Given the description of an element on the screen output the (x, y) to click on. 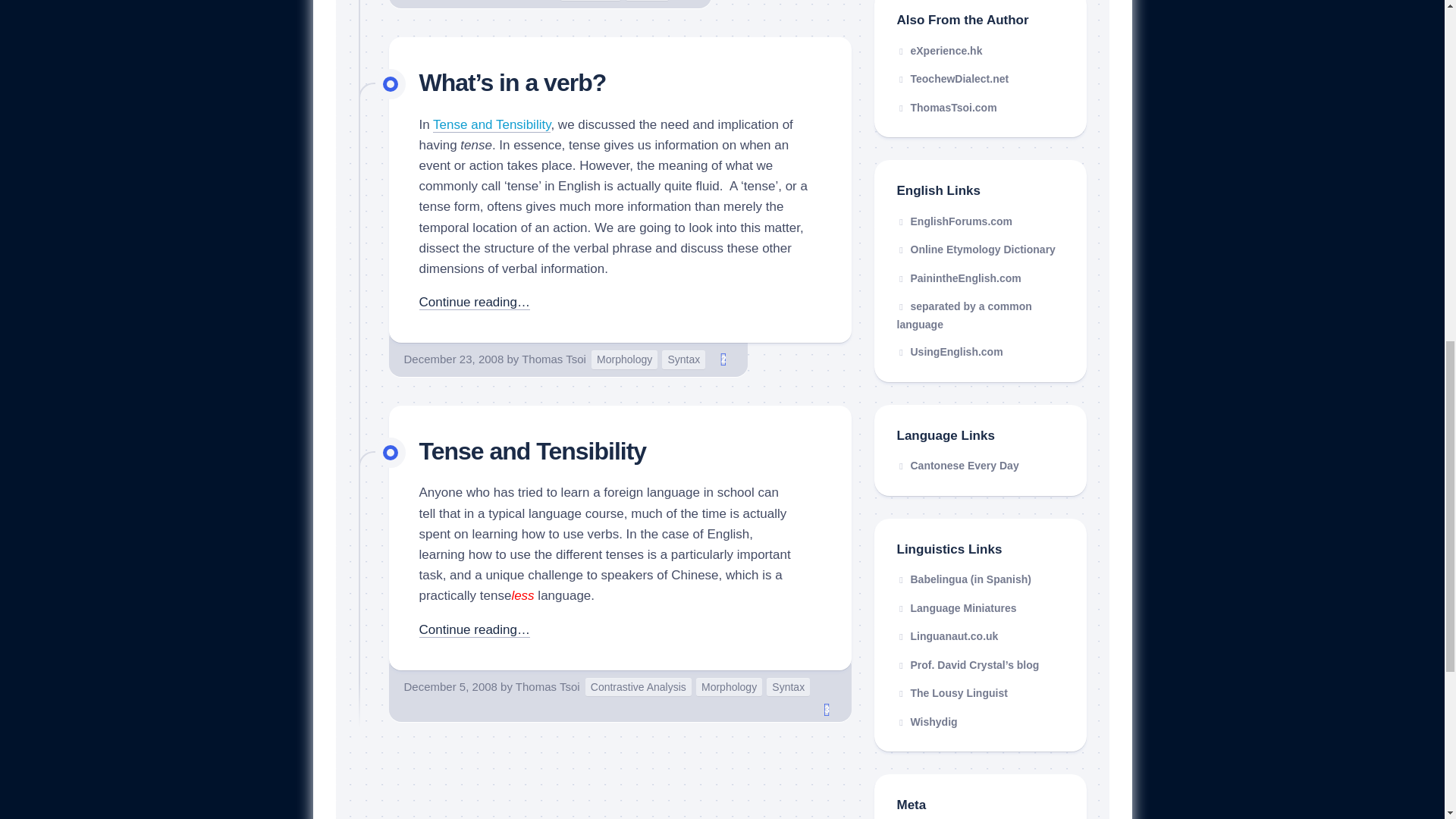
Syntax (788, 687)
Semantics (590, 0)
Thomas Tsoi (553, 358)
Morphology (624, 359)
Learn Cantonese and Discover Hong Kong! (956, 465)
2 (723, 359)
Posts by Thomas Tsoi (547, 686)
Syntax (647, 0)
Syntax (683, 359)
Permanent Link to Tense and Tensibility (491, 124)
Morphology (728, 687)
Posts by Thomas Tsoi (553, 358)
3 (825, 710)
Tense and Tensibility (532, 451)
